Given the description of an element on the screen output the (x, y) to click on. 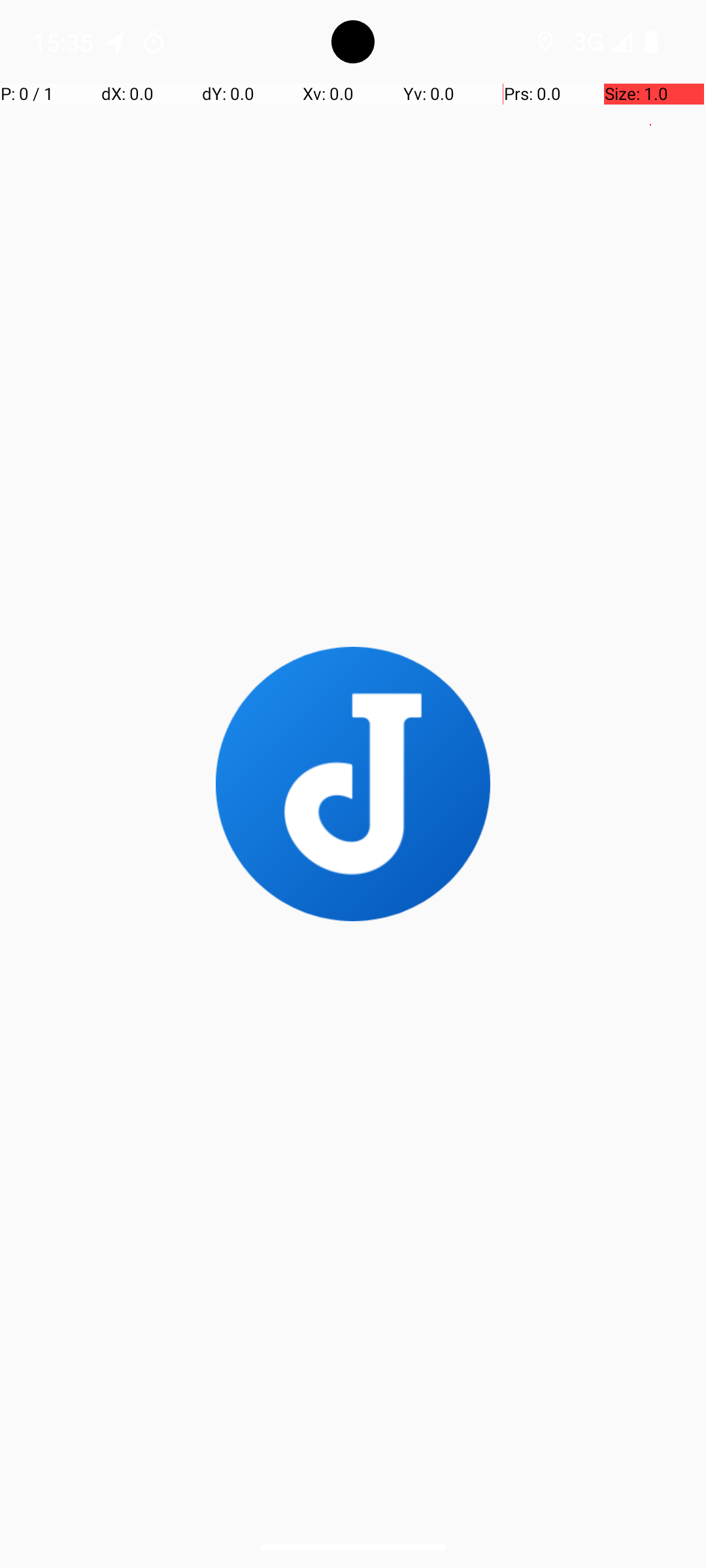
41:09 Element type: android.widget.TextView (130, 210)
